Given the description of an element on the screen output the (x, y) to click on. 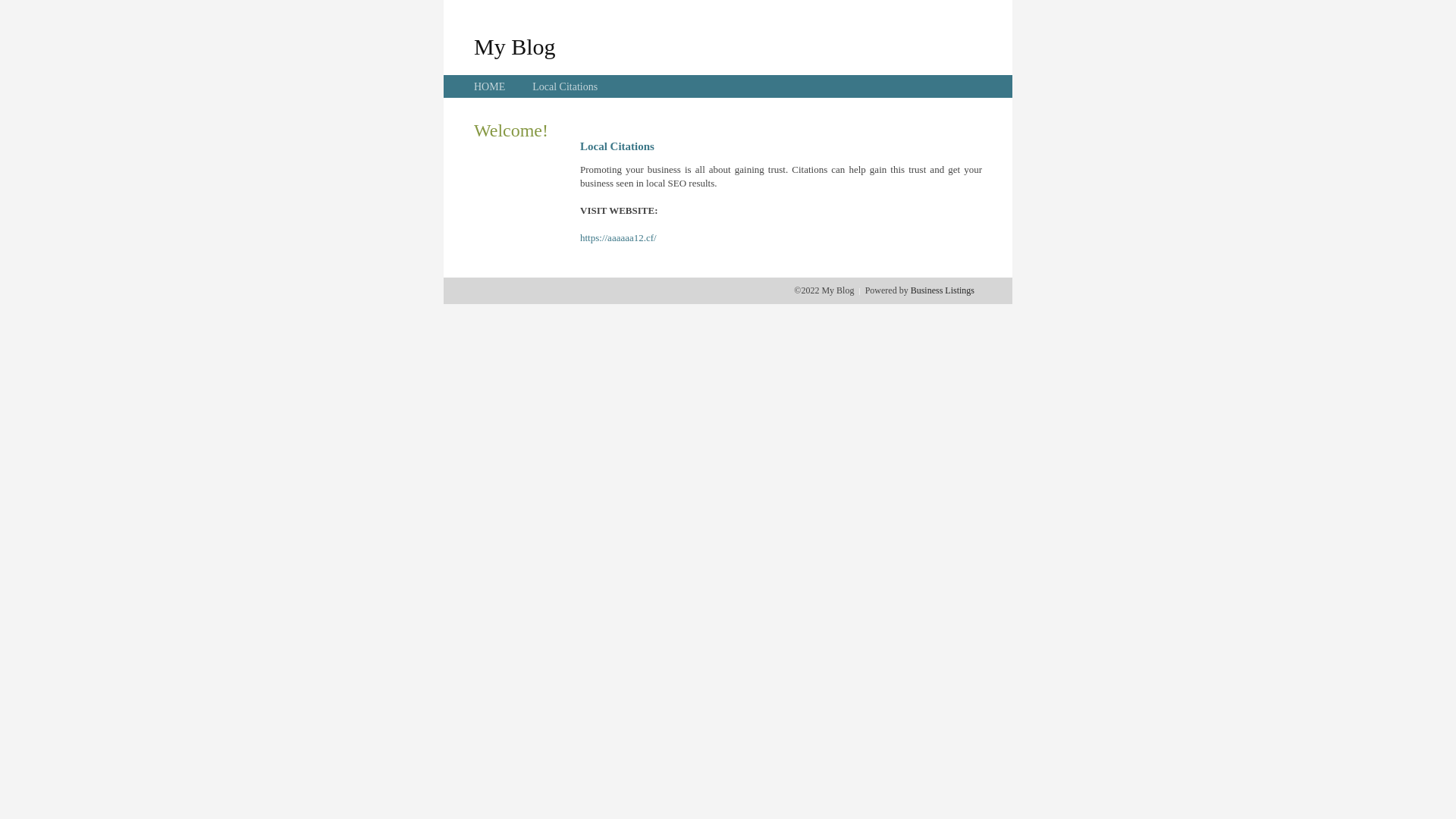
https://aaaaaa12.cf/ Element type: text (618, 237)
Local Citations Element type: text (564, 86)
My Blog Element type: text (514, 46)
Business Listings Element type: text (942, 290)
HOME Element type: text (489, 86)
